Given the description of an element on the screen output the (x, y) to click on. 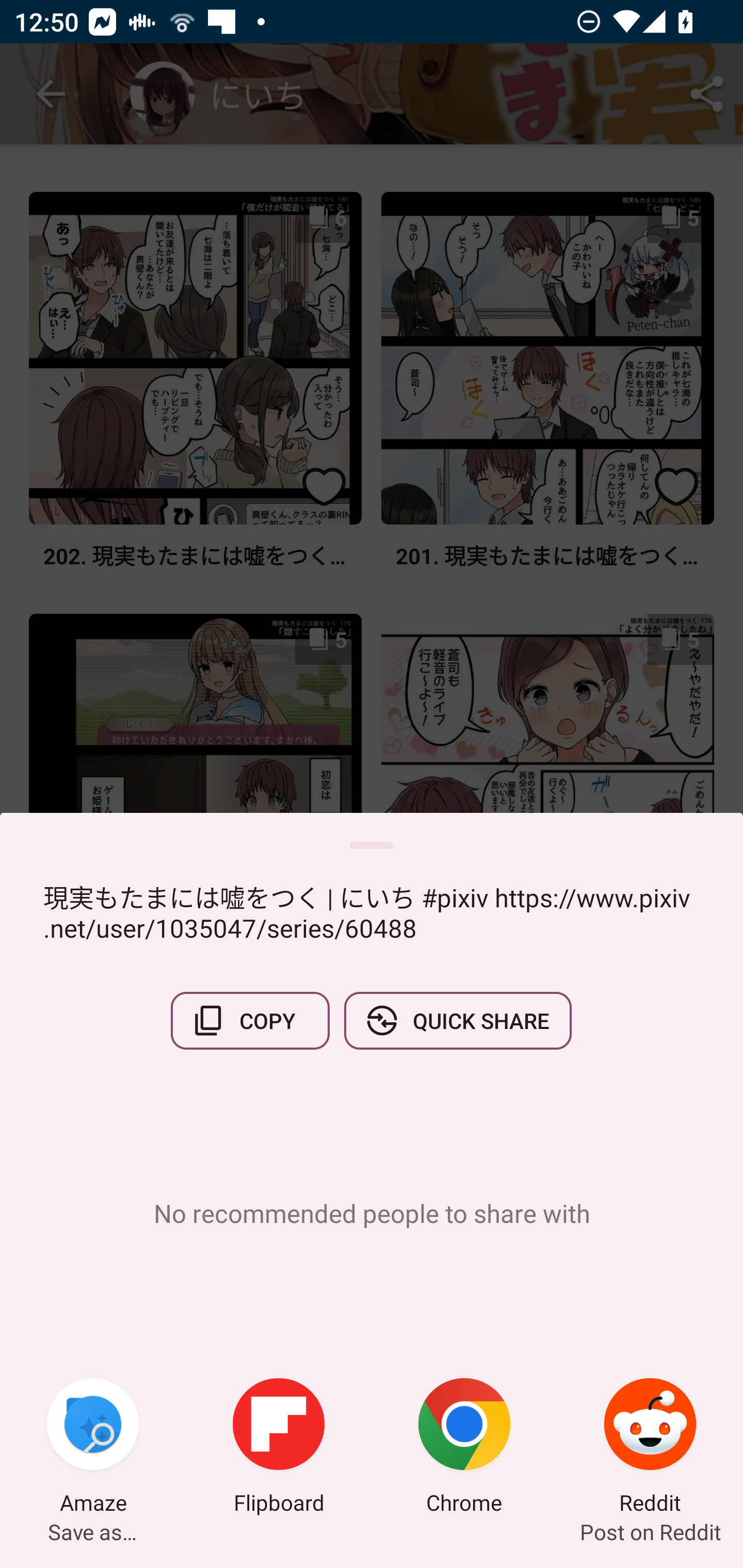
COPY (249, 1020)
QUICK SHARE (457, 1020)
Amaze Save as… (92, 1448)
Flipboard (278, 1448)
Chrome (464, 1448)
Reddit Post on Reddit (650, 1448)
